Given the description of an element on the screen output the (x, y) to click on. 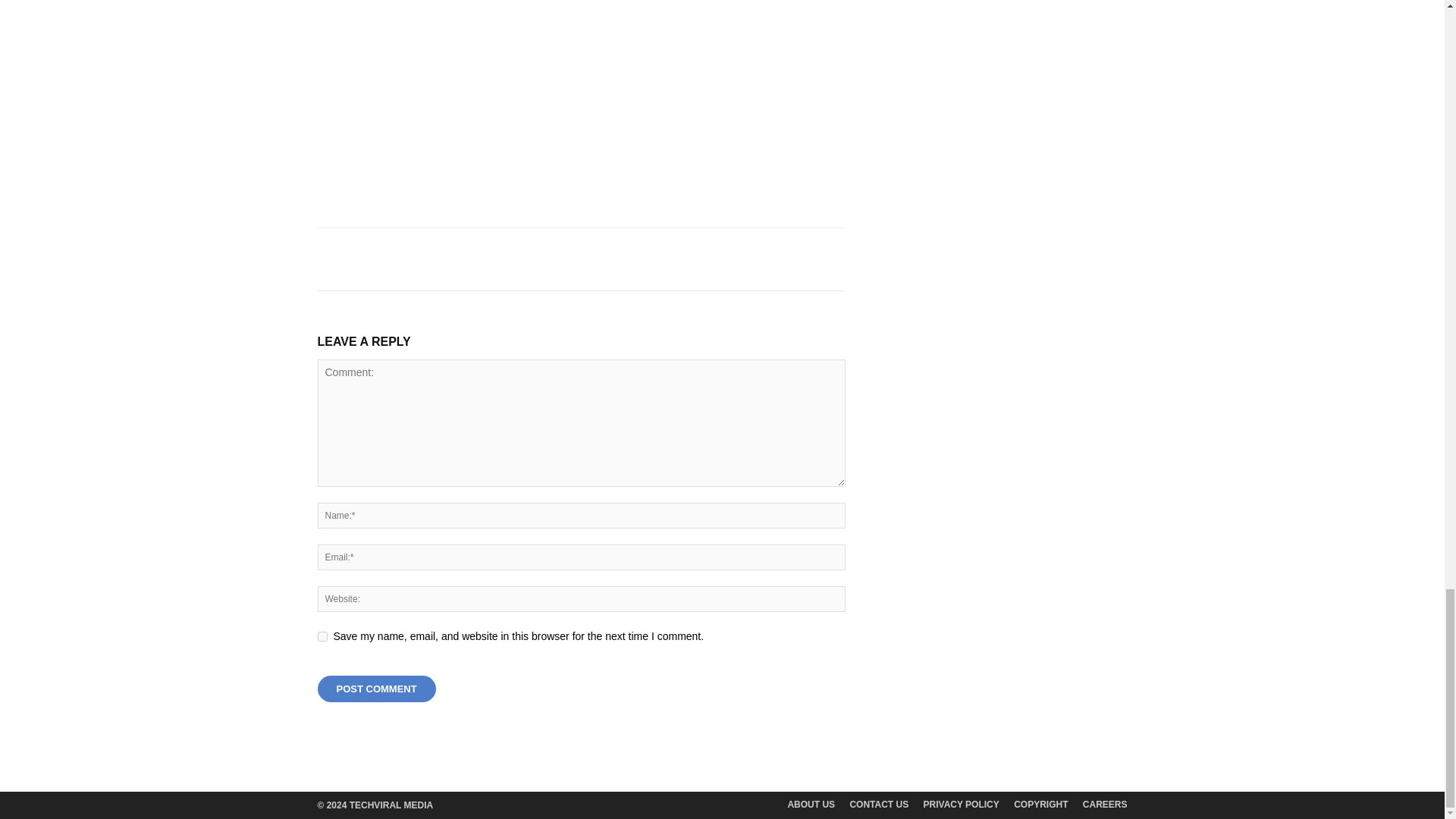
Post Comment (376, 688)
yes (321, 636)
Post Comment (376, 688)
